Given the description of an element on the screen output the (x, y) to click on. 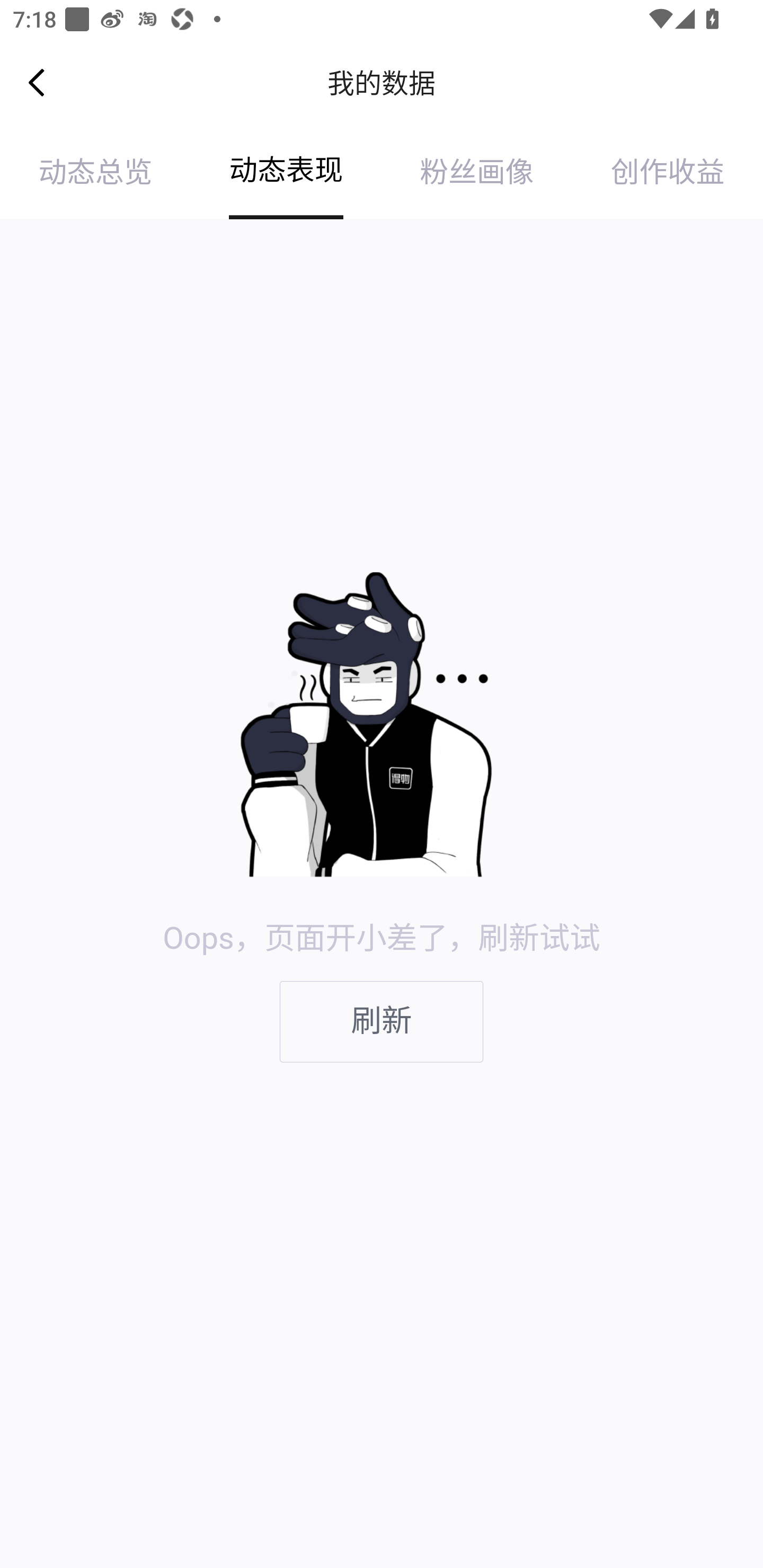
Navigate up (36, 82)
动态总览 (95, 173)
动态表现 (285, 173)
粉丝画像 (476, 173)
创作收益 (667, 173)
